Given the description of an element on the screen output the (x, y) to click on. 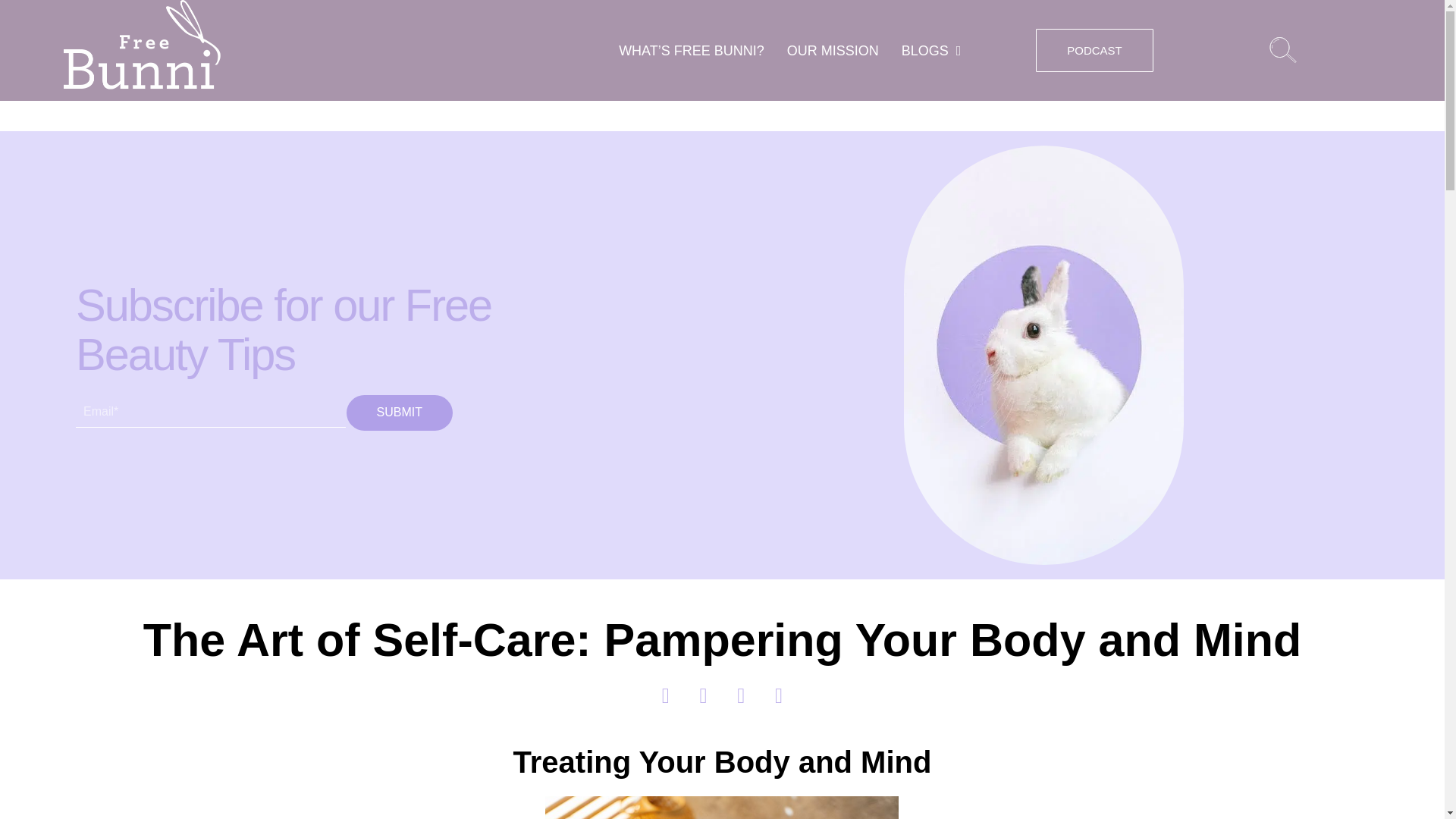
PODCAST (1094, 50)
OUR MISSION (832, 50)
BLOGS (930, 50)
